Given the description of an element on the screen output the (x, y) to click on. 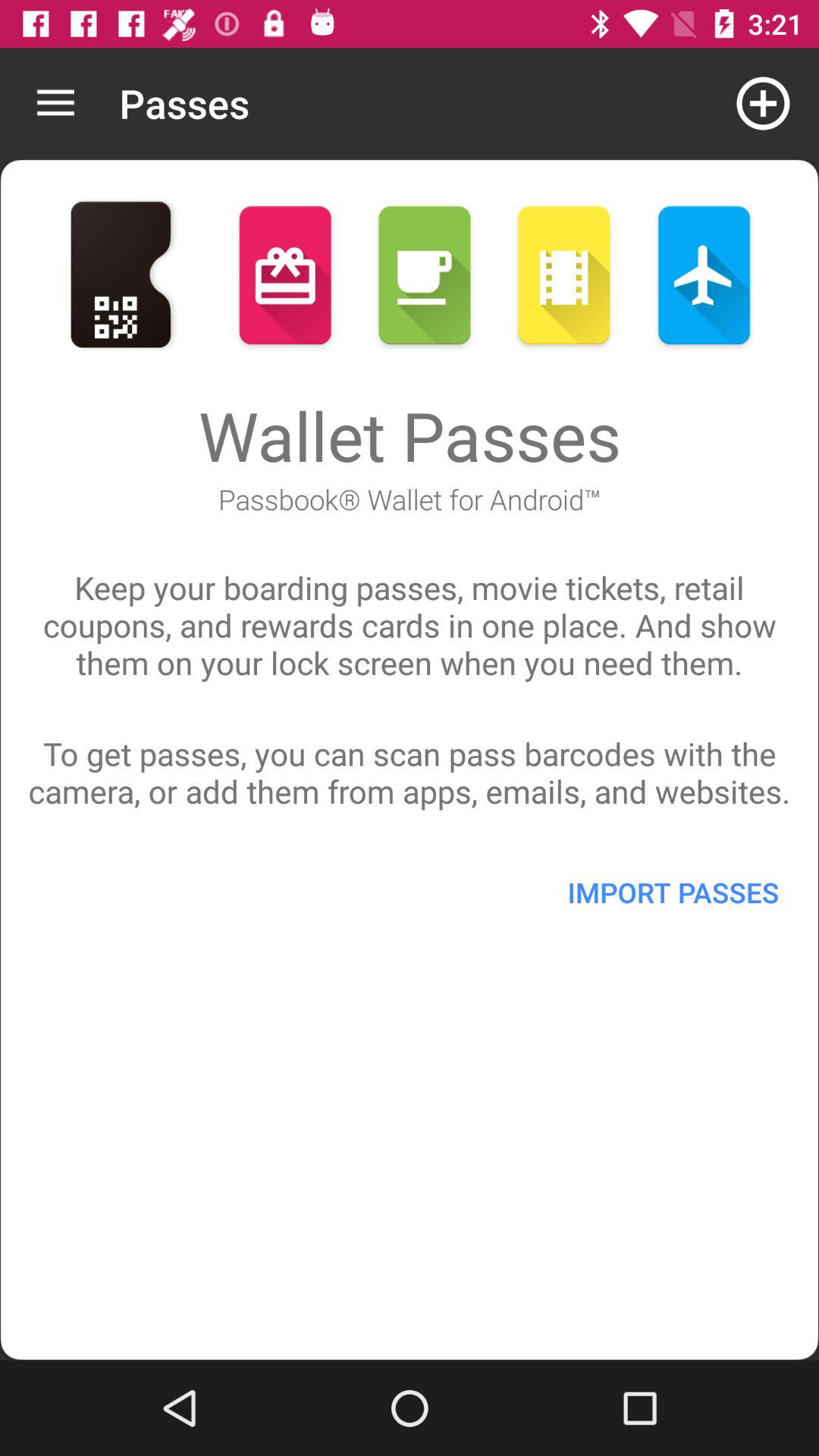
swipe to import passes item (673, 892)
